Given the description of an element on the screen output the (x, y) to click on. 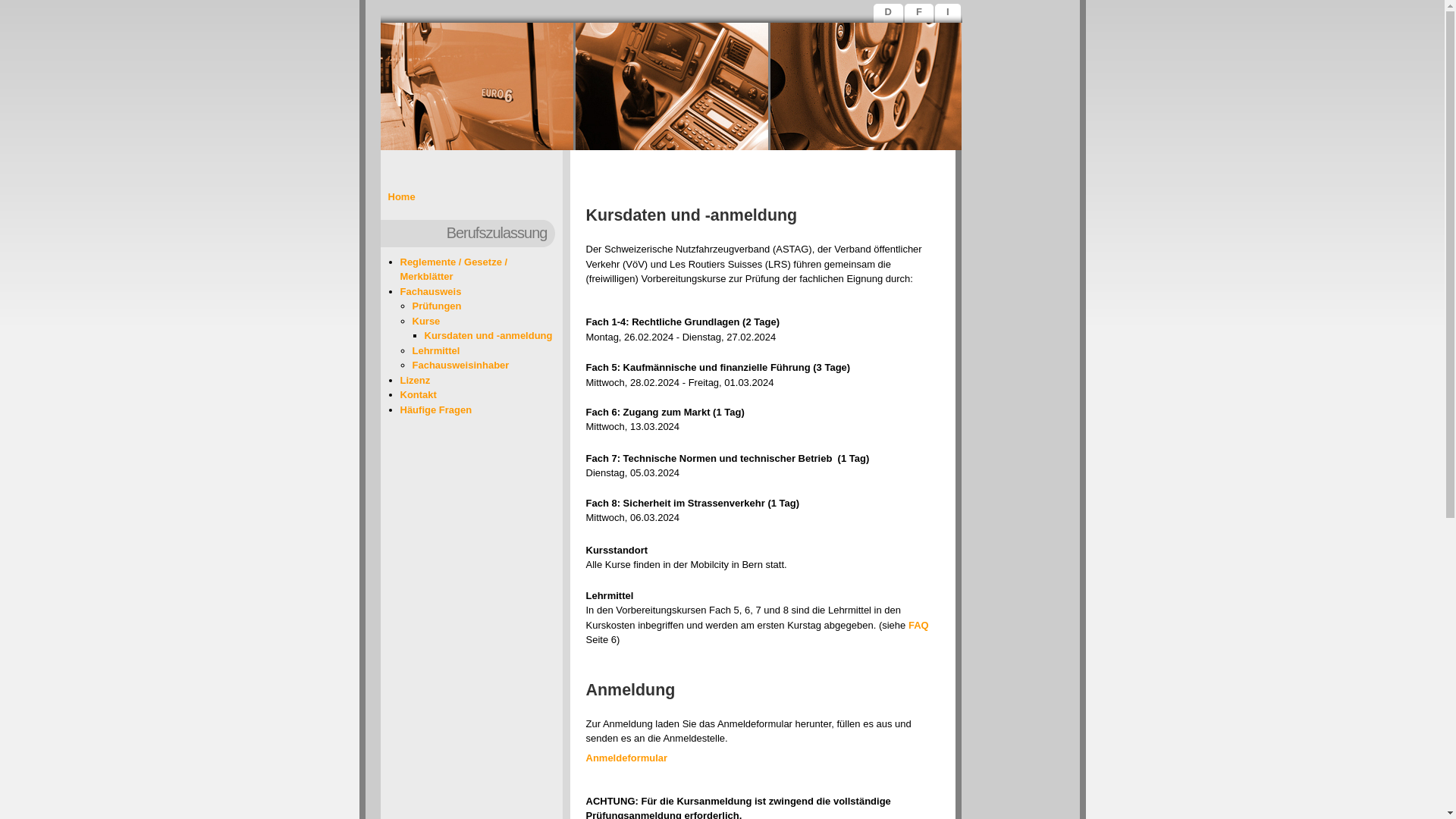
I Element type: text (949, 14)
F Element type: text (920, 14)
Home Element type: text (401, 196)
Fachausweisinhaber Element type: text (460, 364)
Kursdaten und -anmeldung Element type: text (488, 335)
Anmeldeformular Element type: text (626, 757)
Kontakt Element type: text (418, 394)
D Element type: text (889, 14)
Kurse Element type: text (426, 320)
Lizenz Element type: text (415, 379)
Lehrmittel Element type: text (436, 349)
FAQ Element type: text (918, 624)
Fachausweis Element type: text (430, 290)
